Given the description of an element on the screen output the (x, y) to click on. 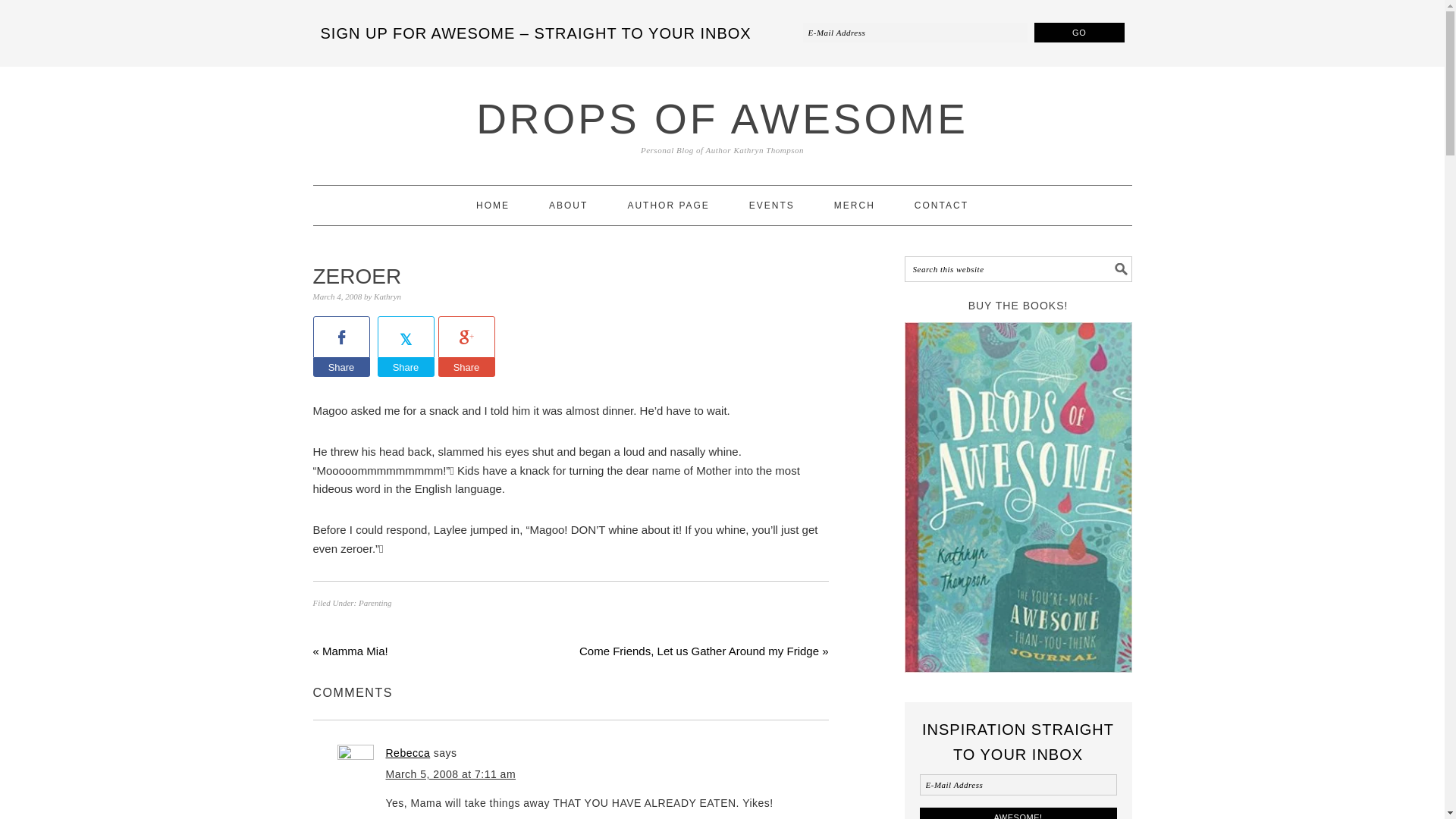
Awesome! (1017, 813)
Share (466, 366)
CONTACT (941, 205)
HOME (492, 205)
Share (341, 366)
Awesome! (1017, 813)
Parenting (374, 602)
EVENTS (771, 205)
Go (1078, 32)
March 5, 2008 at 7:11 am (450, 774)
Go (1078, 32)
Share (405, 366)
Rebecca (407, 752)
